Given the description of an element on the screen output the (x, y) to click on. 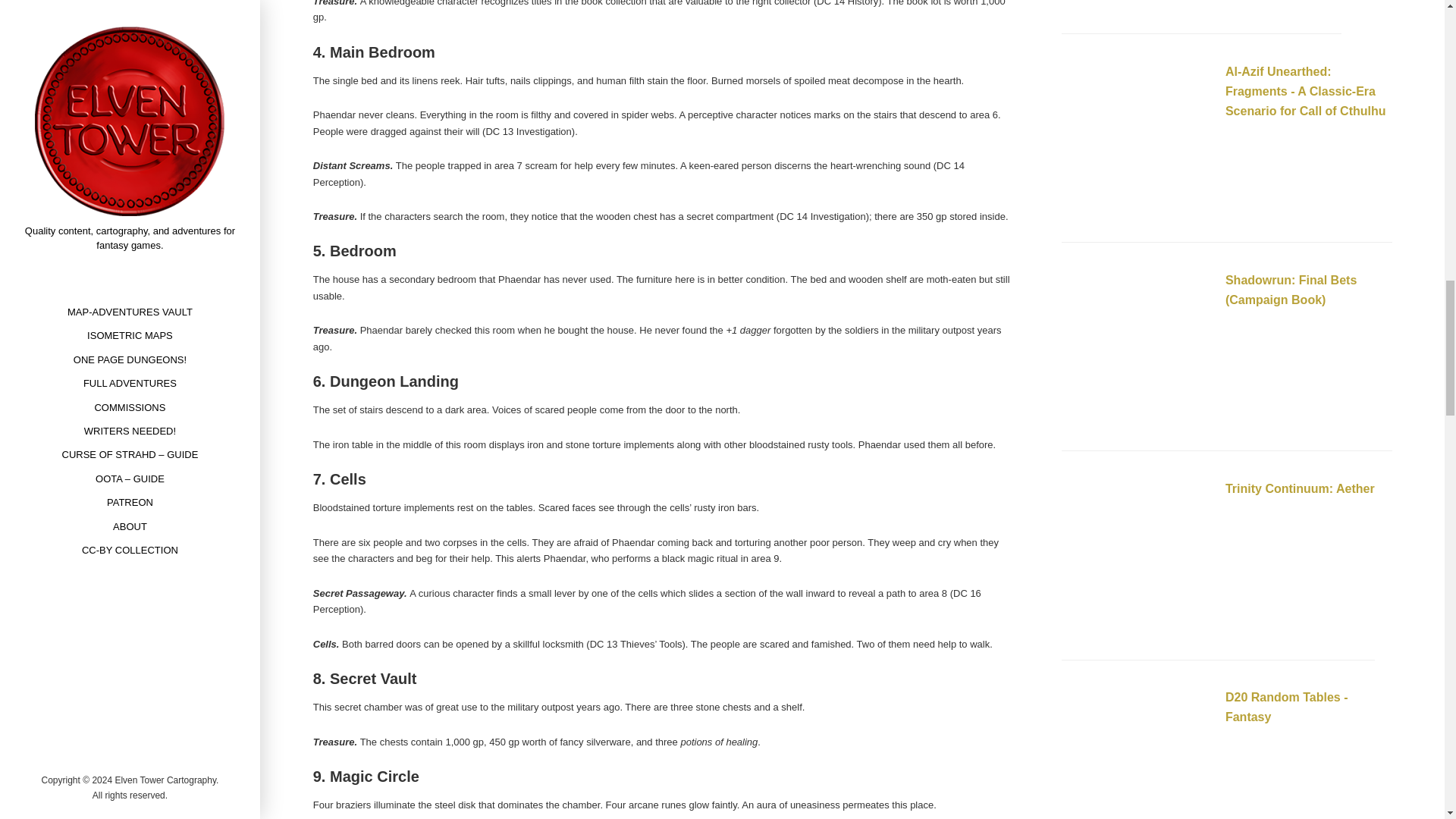
Benighted Betrothal (1136, 4)
Trinity Continuum: Aether (1299, 488)
